Given the description of an element on the screen output the (x, y) to click on. 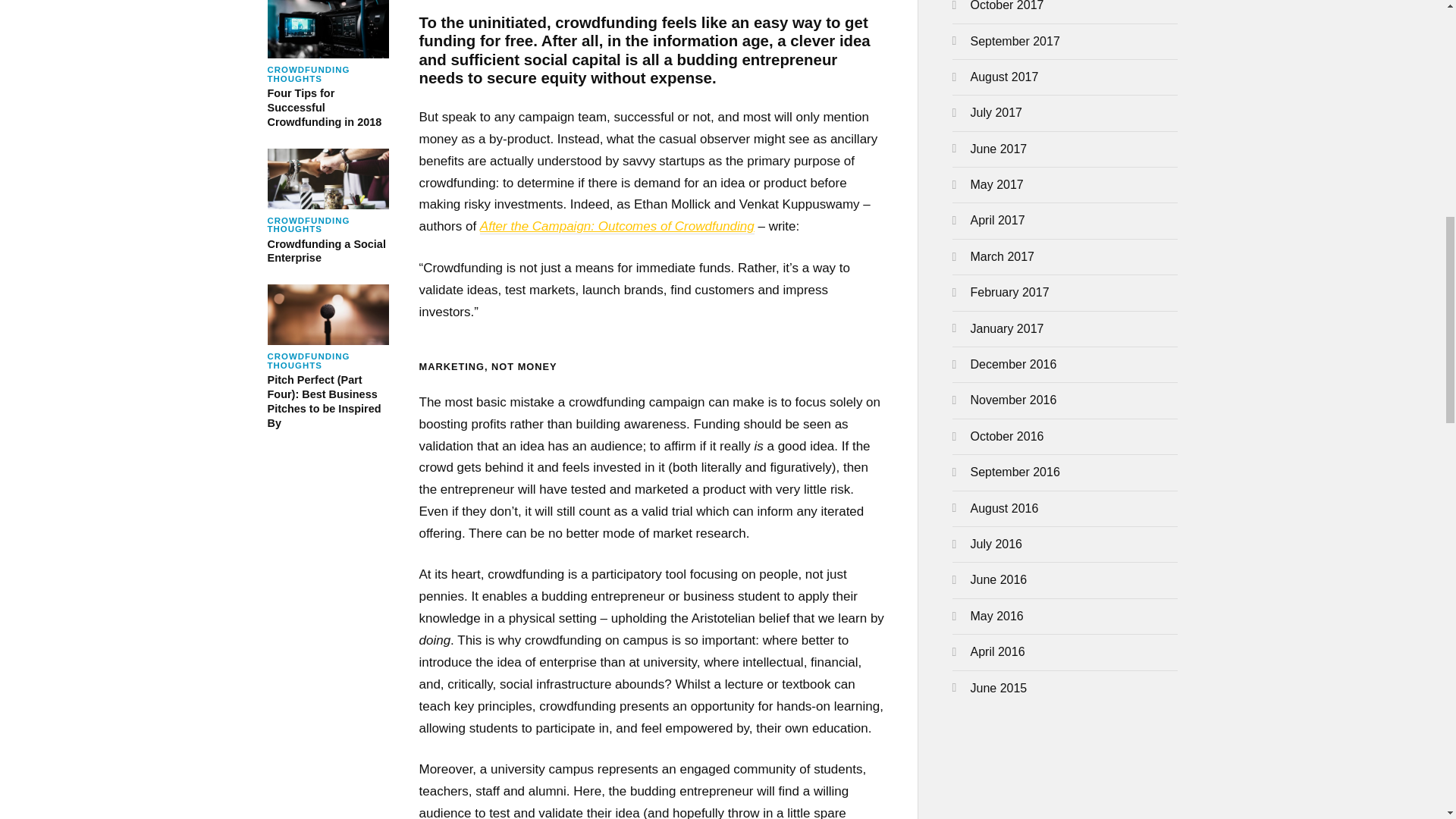
Four Tips for Successful Crowdfunding in 2018 (327, 207)
Crowdfunding a Social Enterprise (327, 64)
After the Campaign: Outcomes of Crowdfunding (327, 207)
